Given the description of an element on the screen output the (x, y) to click on. 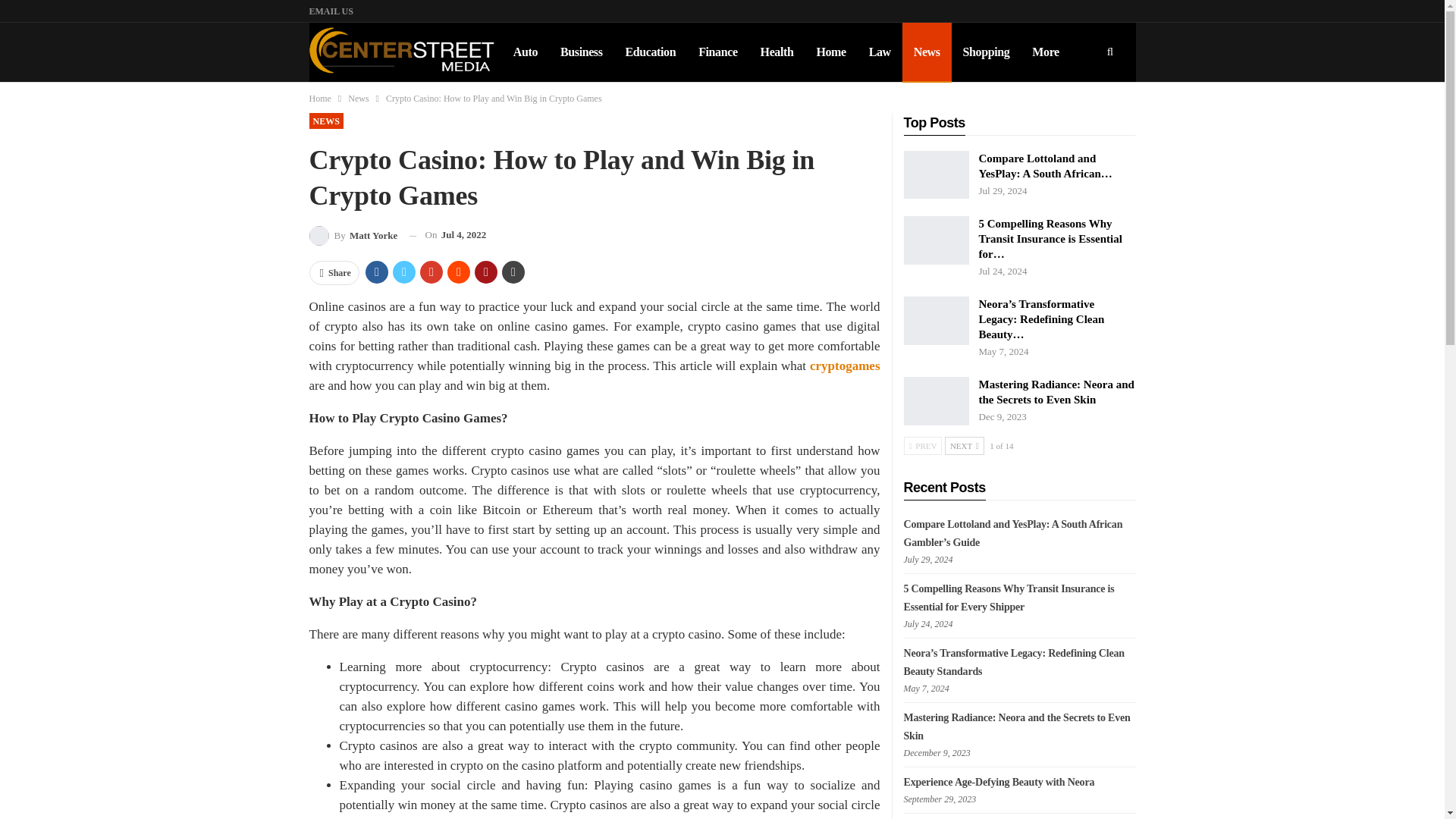
Mastering Radiance: Neora and the Secrets to Even Skin (936, 400)
Shopping (987, 51)
Browse Author Articles (352, 235)
Business (581, 51)
Finance (717, 51)
Health (777, 51)
By Matt Yorke (352, 235)
News (357, 98)
NEWS (325, 120)
Education (650, 51)
EMAIL US (330, 10)
cryptogames (844, 365)
Home (319, 98)
